Given the description of an element on the screen output the (x, y) to click on. 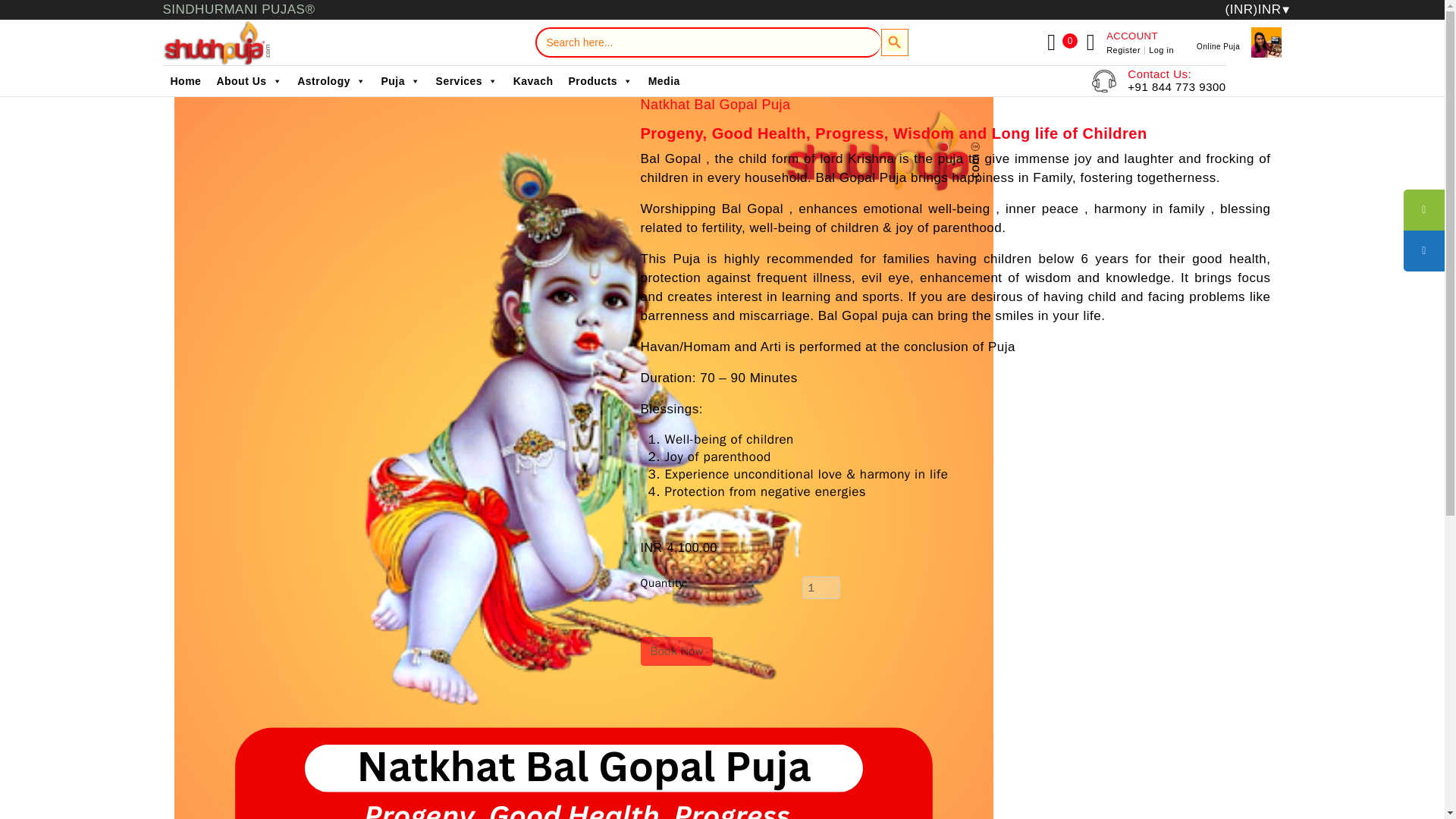
About Us (248, 81)
Puja (400, 81)
Online Puja (1218, 46)
Astrology (330, 81)
Register (1125, 49)
1 (821, 587)
Search Button (894, 42)
Home (184, 81)
Log in (1160, 49)
